Given the description of an element on the screen output the (x, y) to click on. 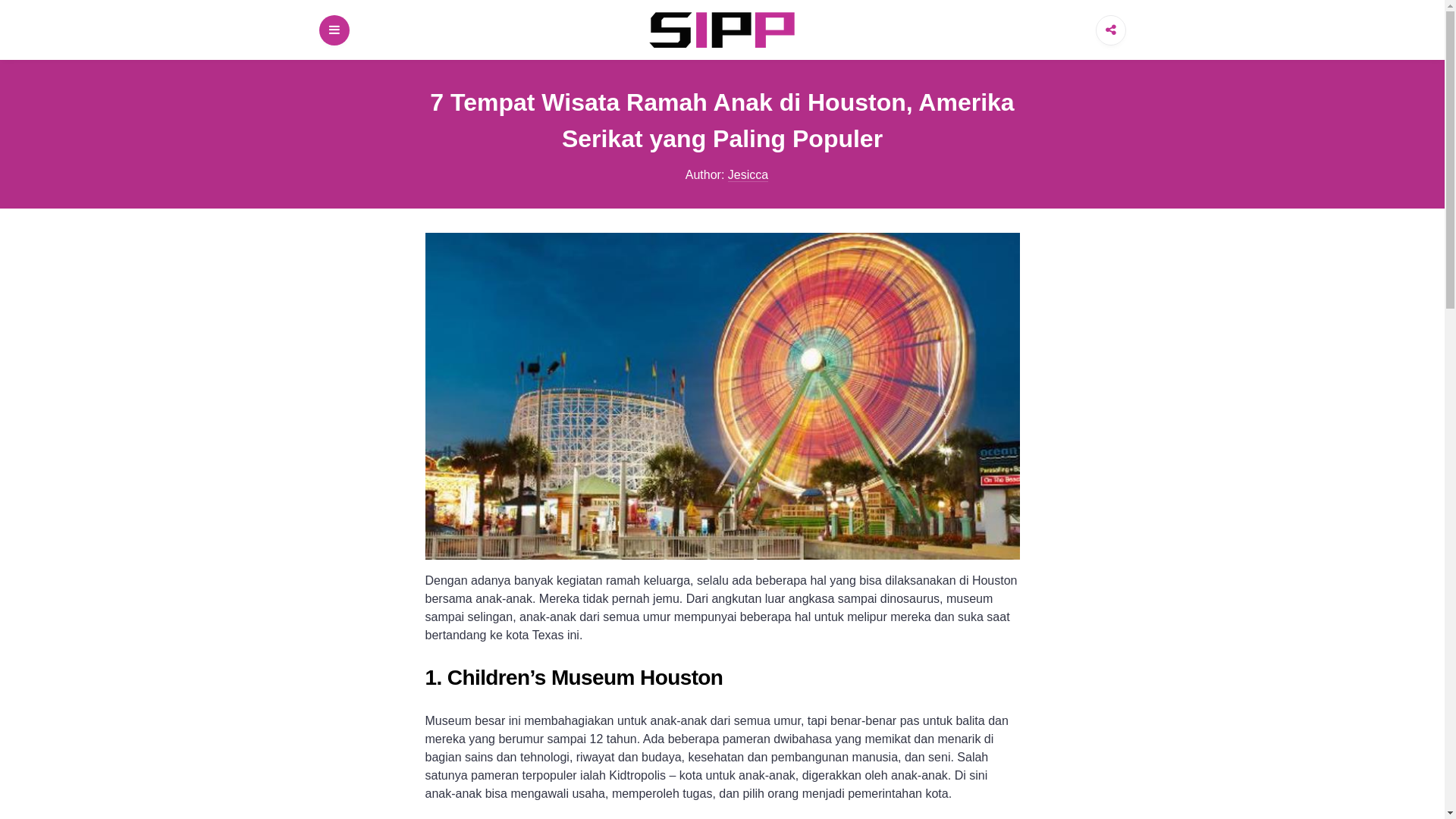
Jesicca Element type: text (748, 175)
